Given the description of an element on the screen output the (x, y) to click on. 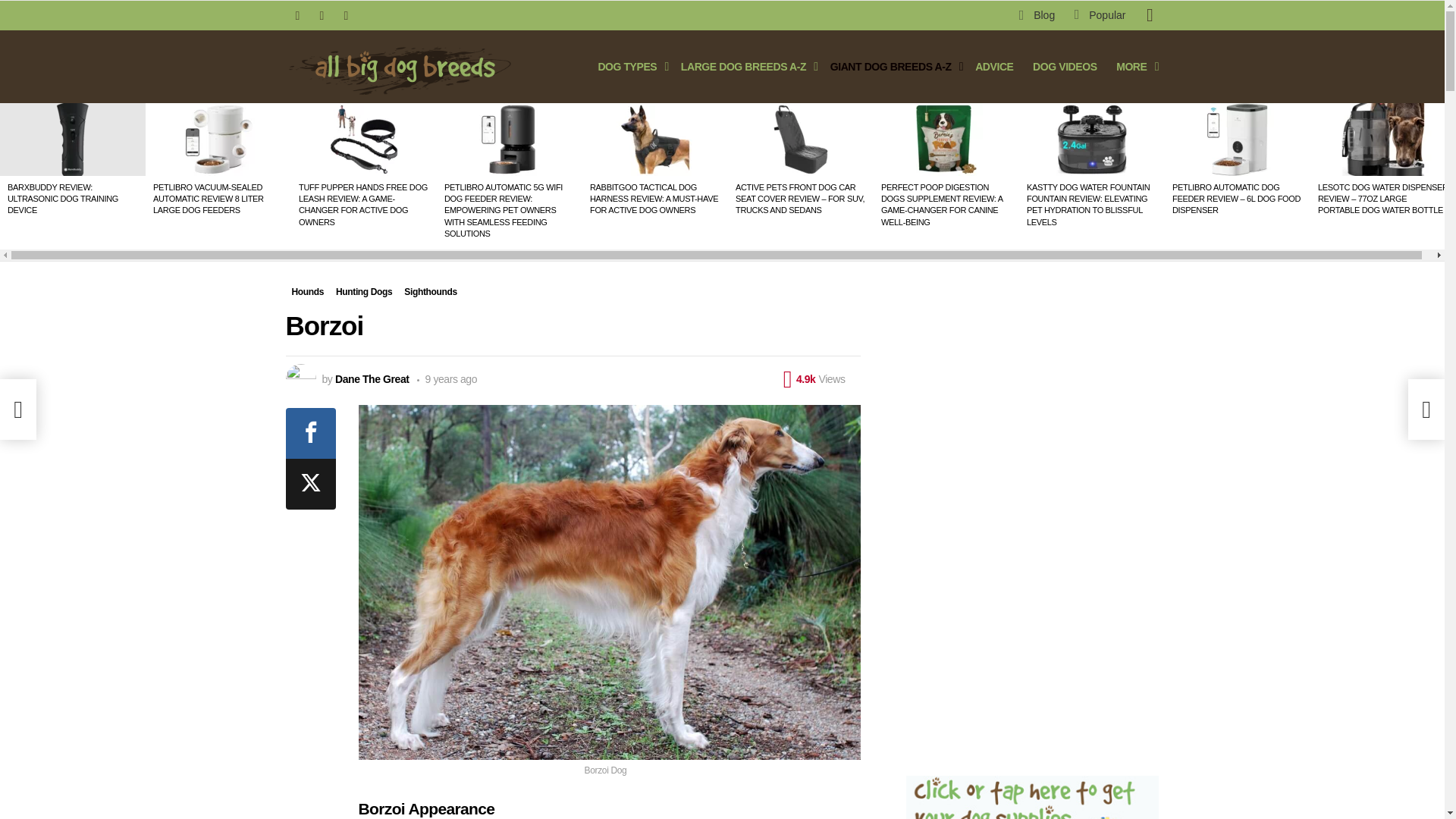
BarxBuddy Review: Ultrasonic Dog Training Device (72, 139)
tumblr (345, 14)
LARGE DOG BREEDS A-Z (745, 66)
Posts by Dane The Great (371, 378)
twitter (320, 14)
facebook (296, 14)
DOG TYPES (628, 66)
Popular (1100, 14)
Blog (1036, 14)
